Given the description of an element on the screen output the (x, y) to click on. 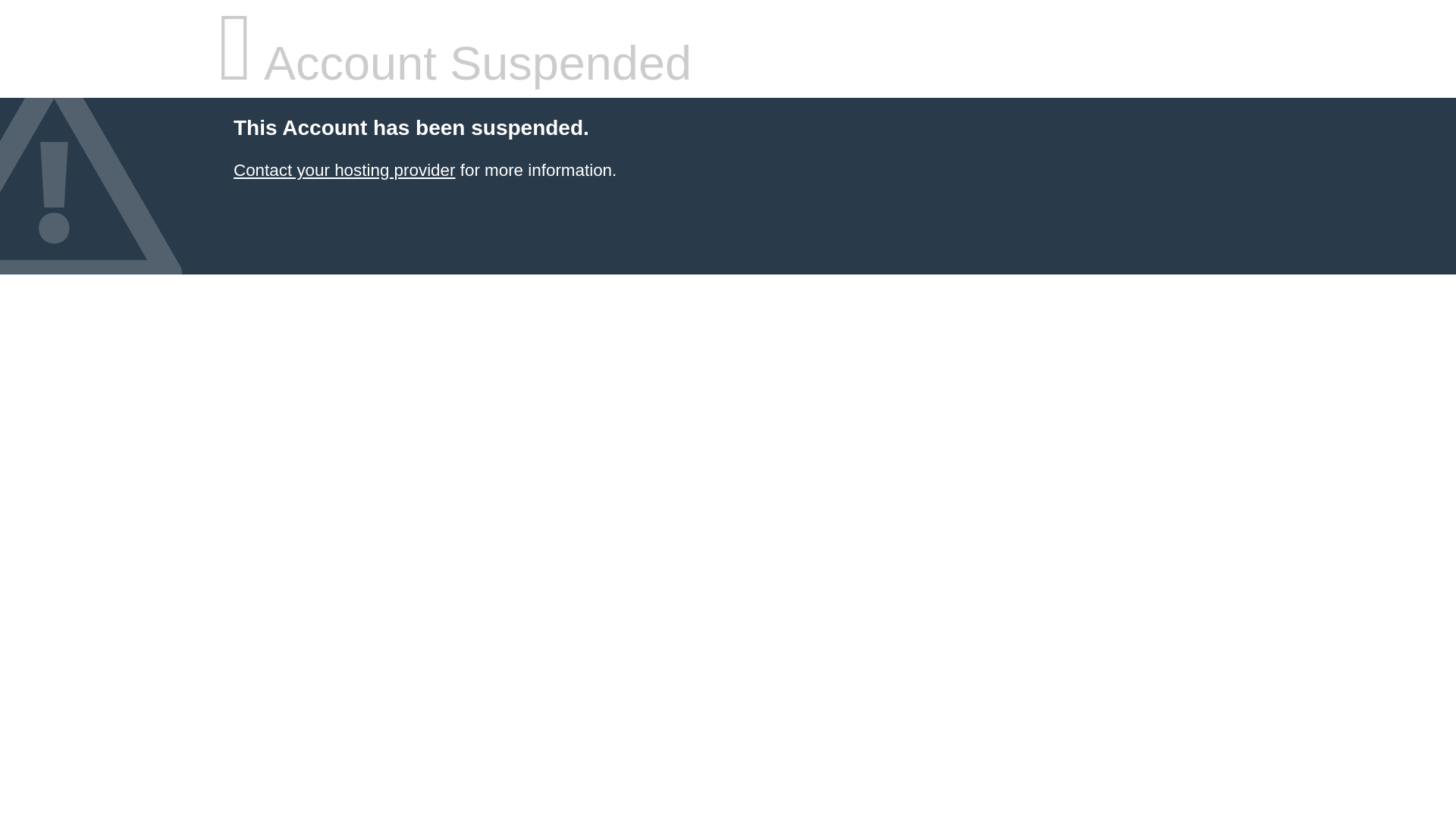
Contact your hosting provider (343, 169)
